Given the description of an element on the screen output the (x, y) to click on. 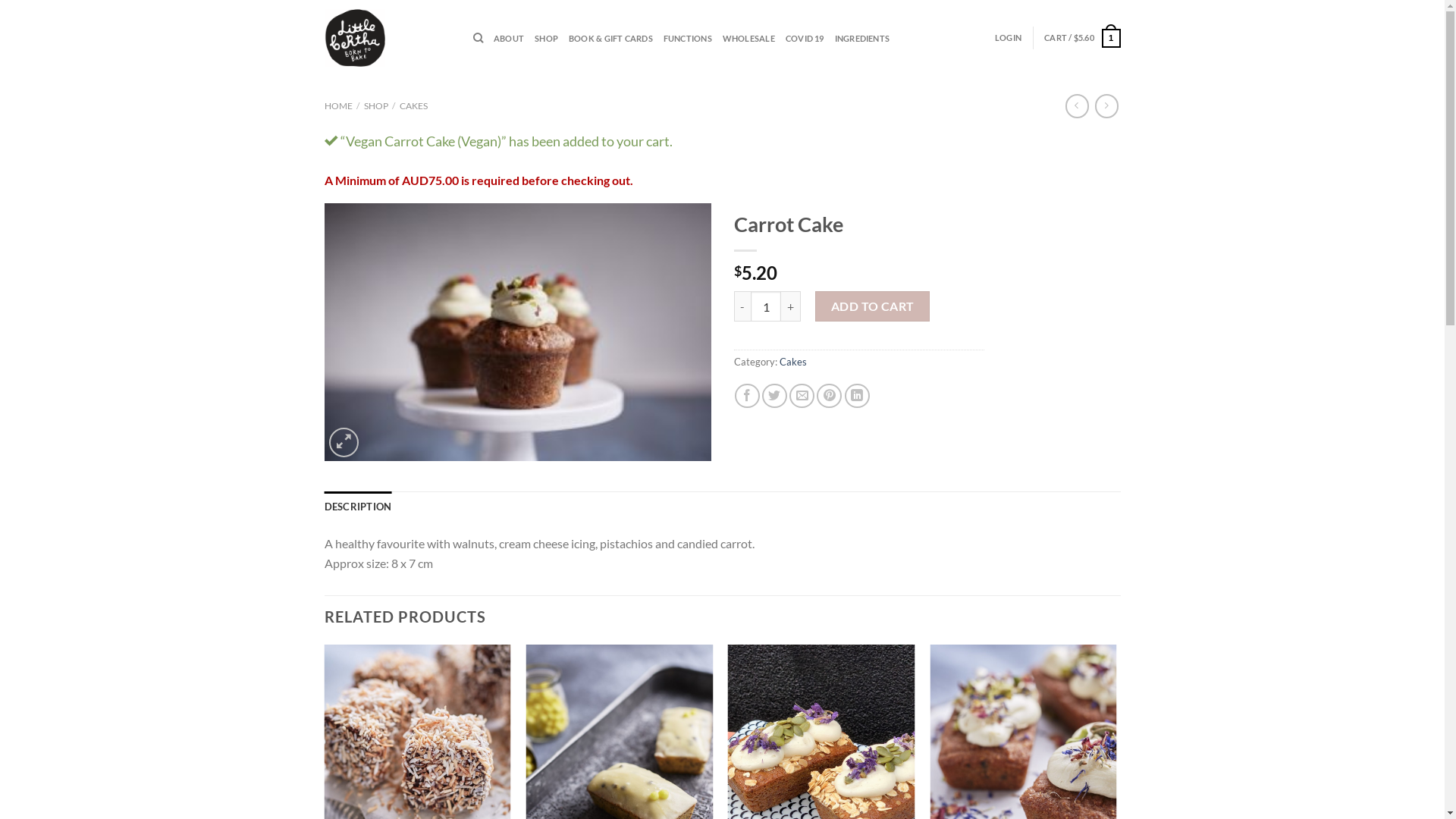
Qty Element type: hover (765, 306)
ABOUT Element type: text (508, 38)
SHOP Element type: text (546, 38)
CART / $5.60
1 Element type: text (1082, 38)
INGREDIENTS Element type: text (861, 38)
SHOP Element type: text (376, 105)
LOGIN Element type: text (1007, 37)
Cakes Element type: text (792, 361)
BOOK & GIFT CARDS Element type: text (610, 38)
DESCRIPTION Element type: text (358, 506)
CAKES Element type: text (413, 105)
Little Bertha Element type: hover (387, 37)
WHOLESALE Element type: text (748, 38)
Little Bertha Element type: hover (517, 332)
FUNCTIONS Element type: text (687, 38)
HOME Element type: text (338, 105)
COVID 19 Element type: text (804, 38)
ADD TO CART Element type: text (872, 306)
